Given the description of an element on the screen output the (x, y) to click on. 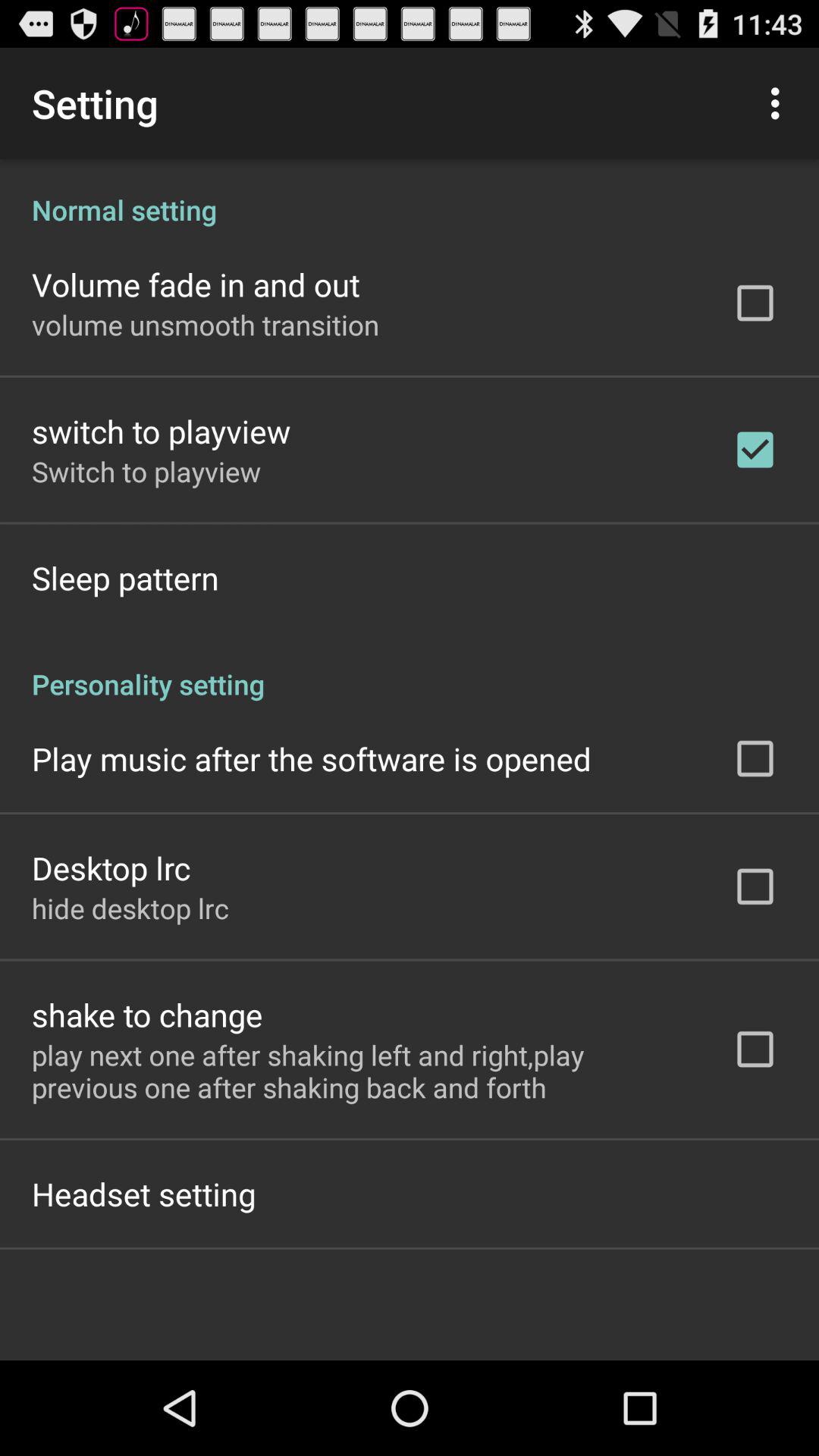
click personality setting (409, 667)
